Given the description of an element on the screen output the (x, y) to click on. 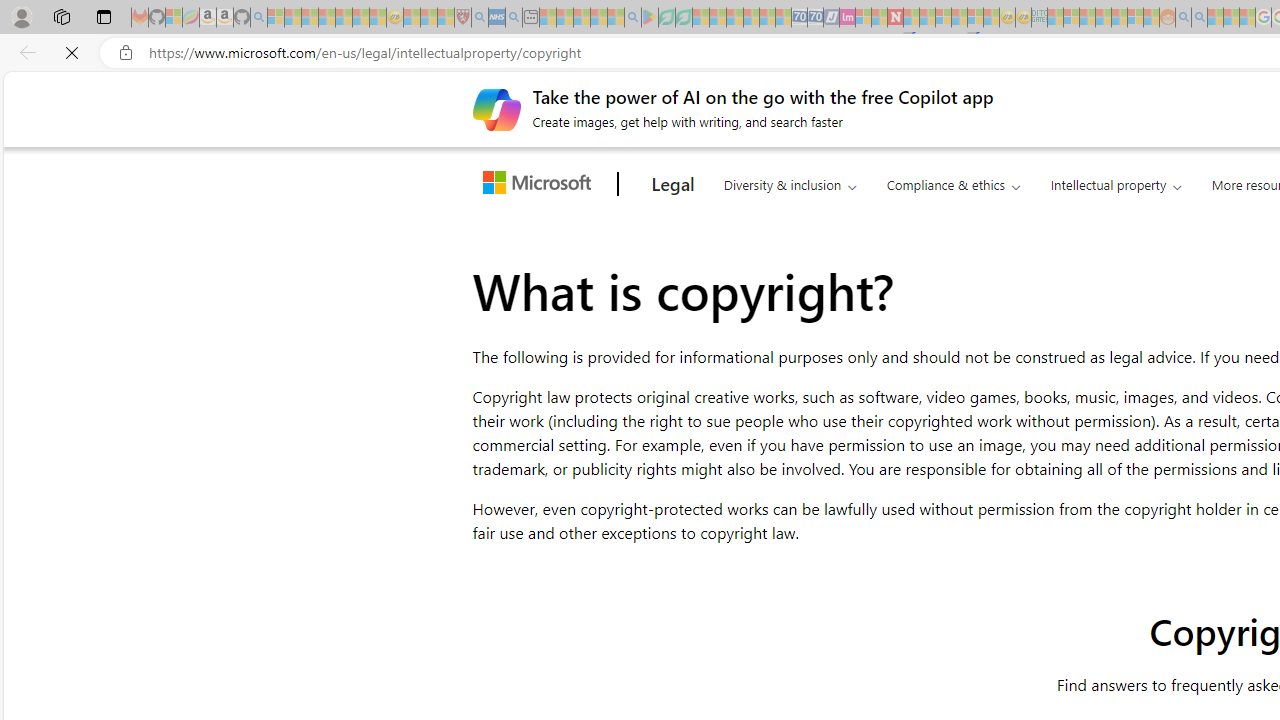
Bluey: Let's Play! - Apps on Google Play - Sleeping (649, 17)
Kinda Frugal - MSN - Sleeping (1119, 17)
google - Search - Sleeping (632, 17)
